Given the description of an element on the screen output the (x, y) to click on. 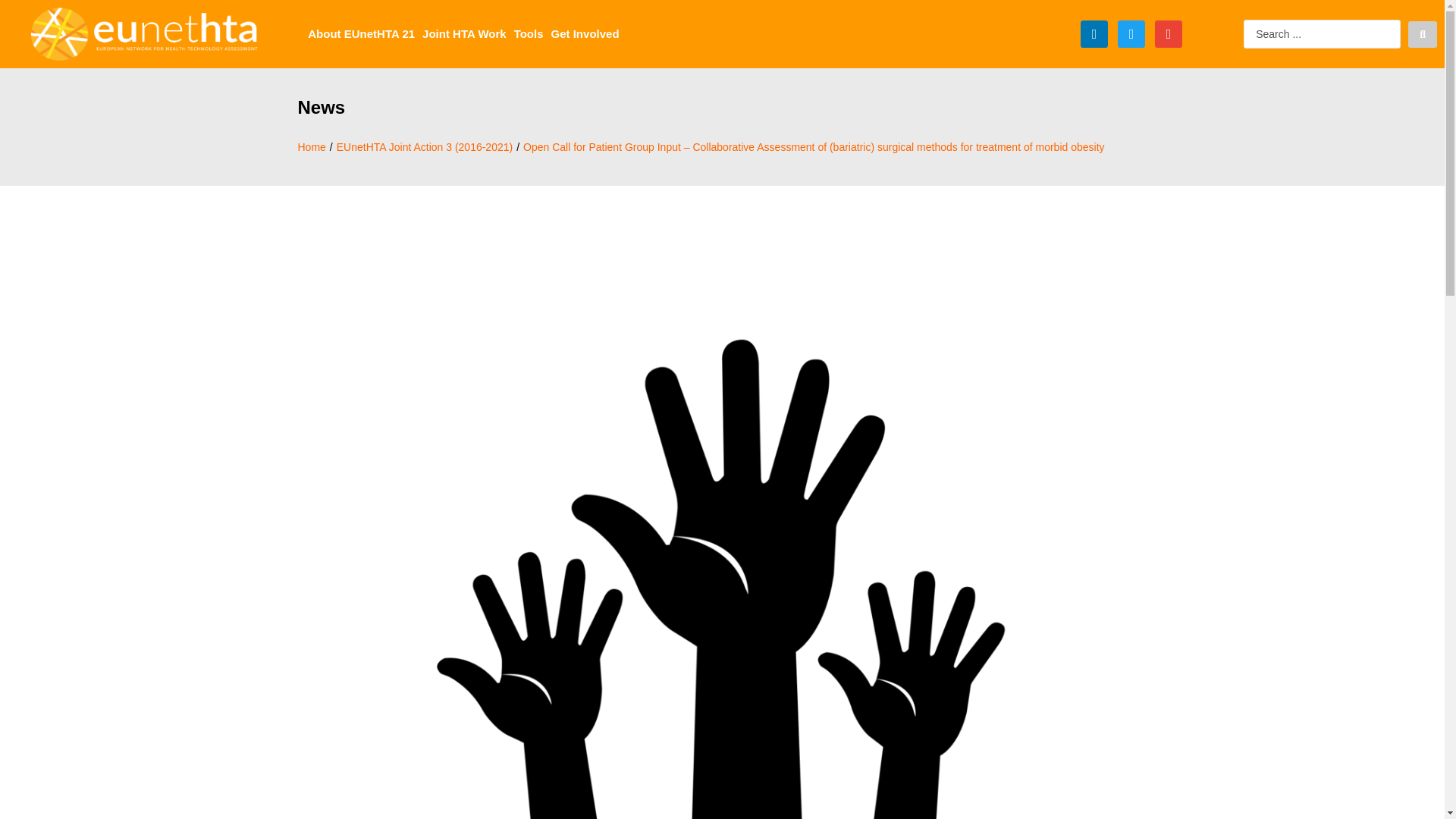
Joint HTA Work (465, 33)
Home (310, 147)
About EUnetHTA 21 (361, 33)
